Given the description of an element on the screen output the (x, y) to click on. 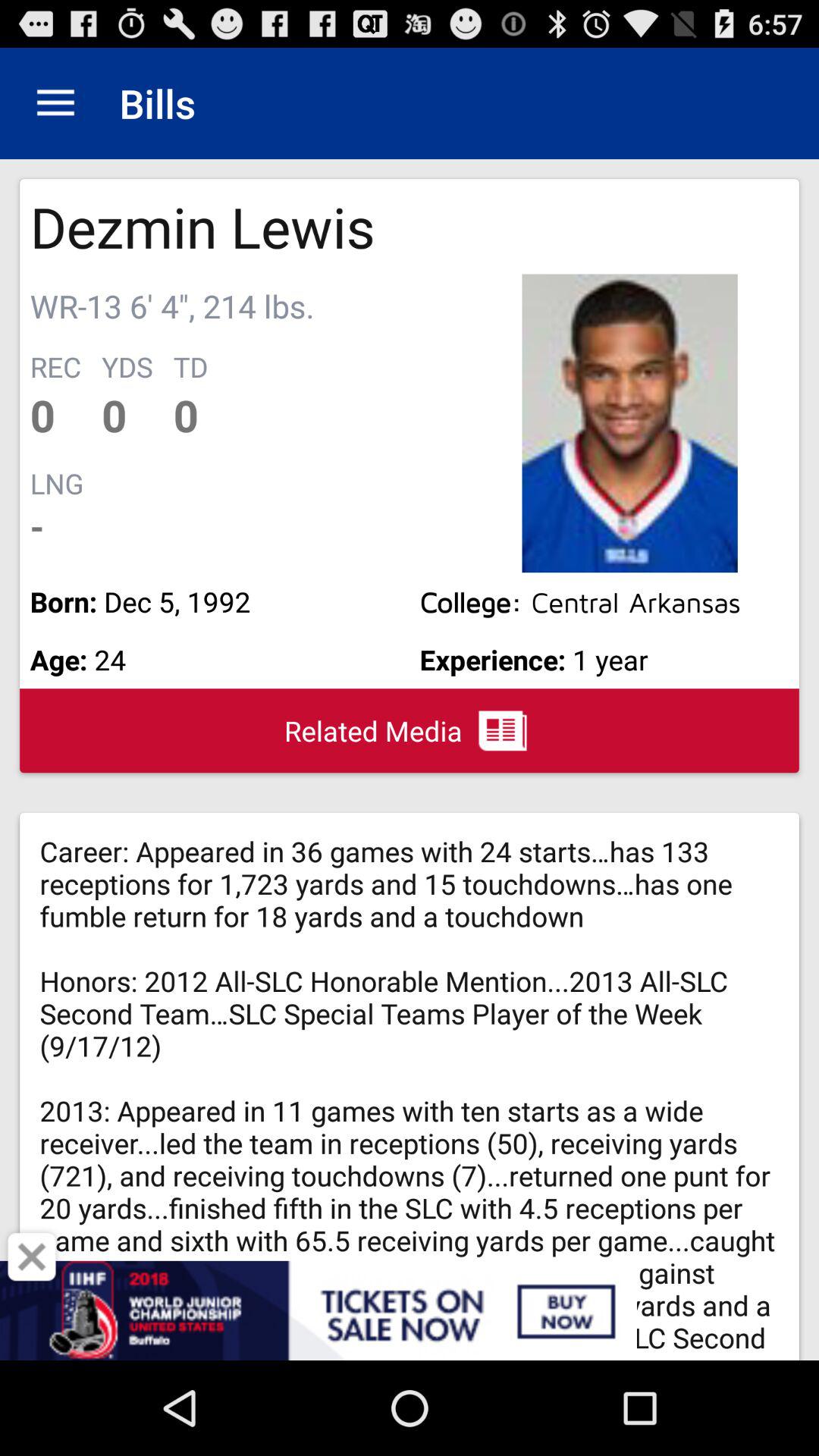
click off advertisements (31, 1256)
